Given the description of an element on the screen output the (x, y) to click on. 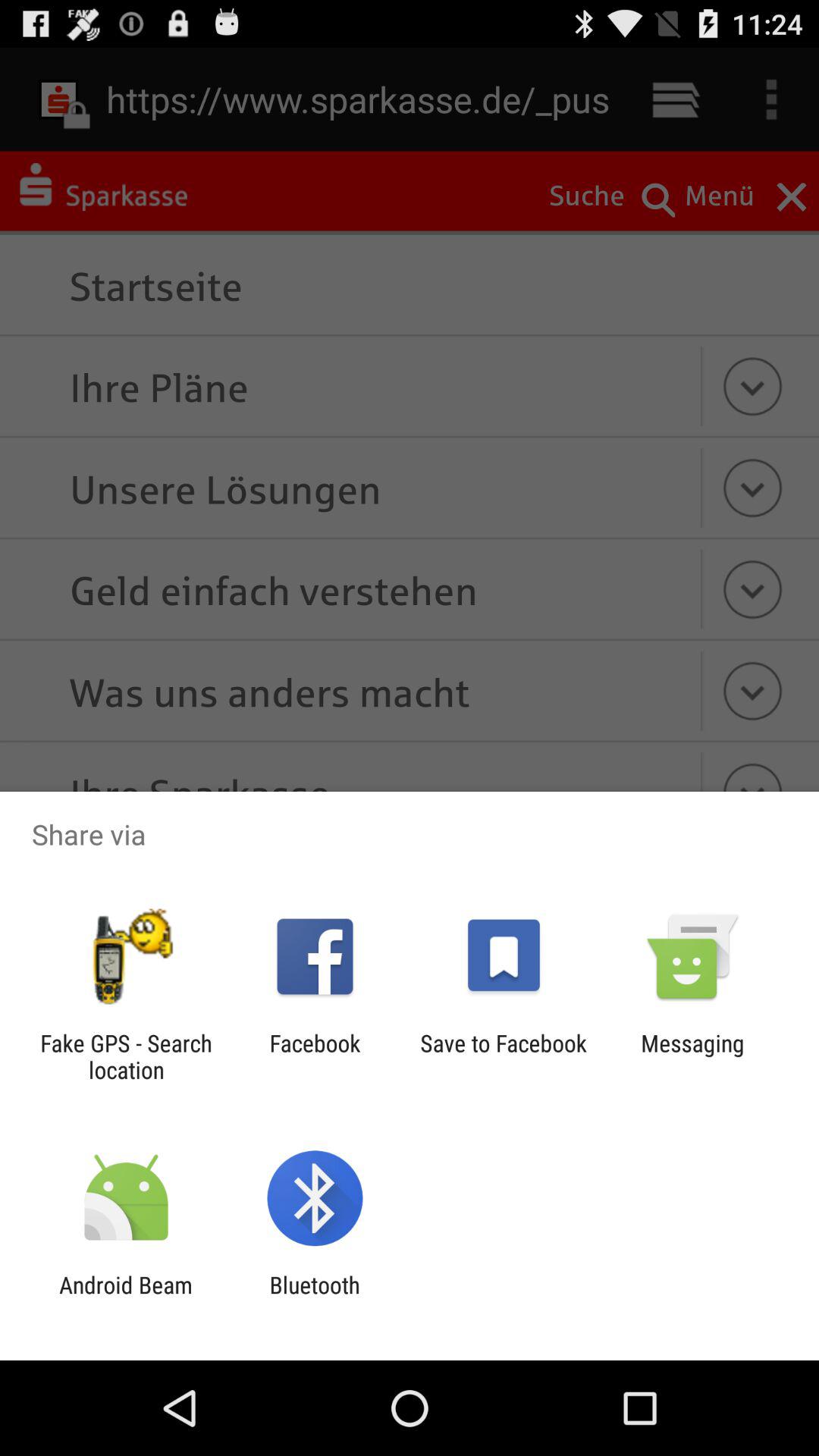
tap android beam icon (125, 1298)
